Given the description of an element on the screen output the (x, y) to click on. 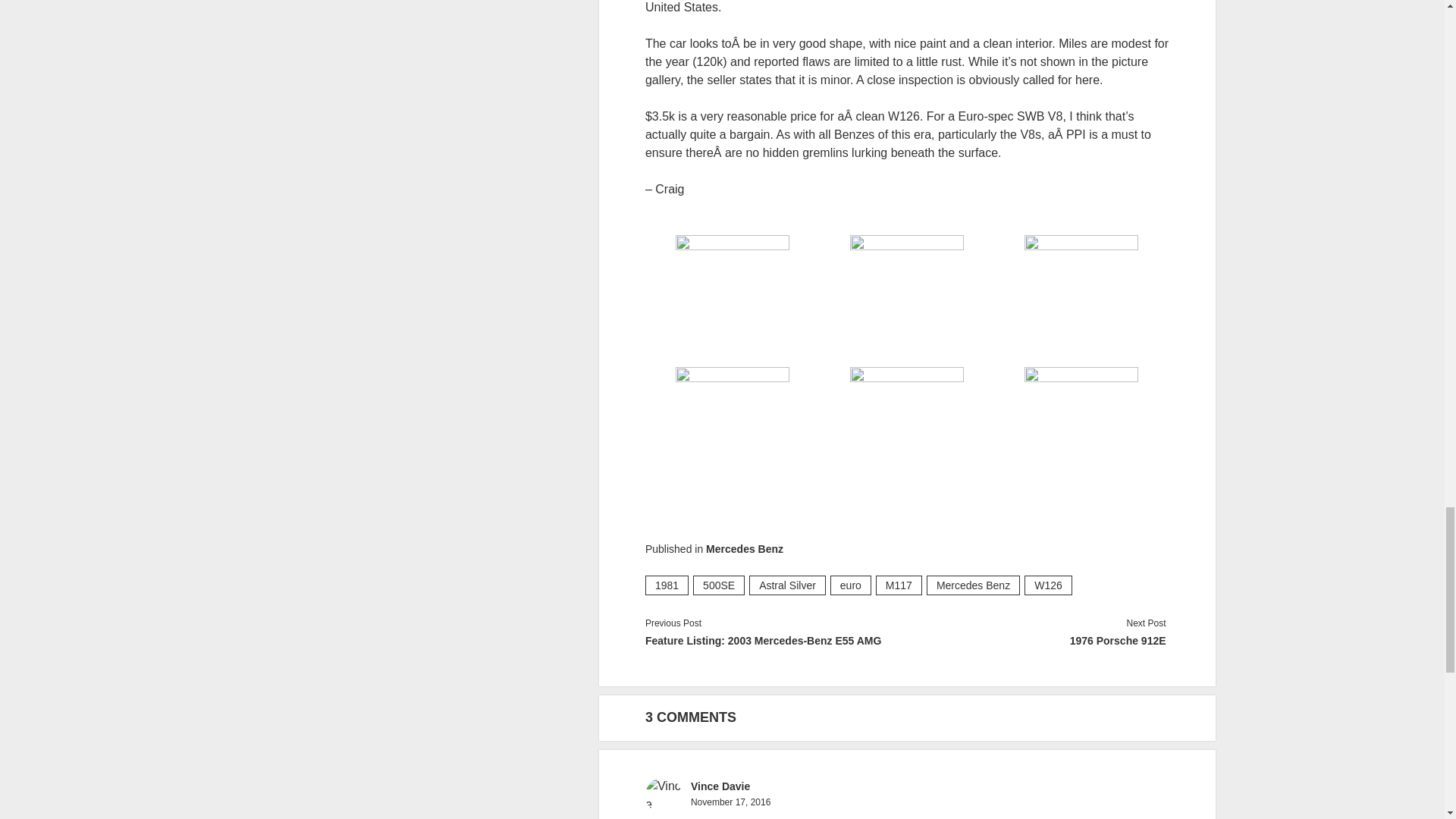
View all posts tagged W126 (1048, 585)
View all posts tagged 500SE (718, 585)
View all posts tagged Mercedes Benz (973, 585)
View all posts tagged Astral Silver (787, 585)
500SE (718, 585)
Mercedes Benz (744, 548)
View all posts tagged euro (849, 585)
Feature Listing: 2003 Mercedes-Benz E55 AMG (776, 640)
1976 Porsche 912E (1035, 640)
View all posts tagged 1981 (666, 585)
